Given the description of an element on the screen output the (x, y) to click on. 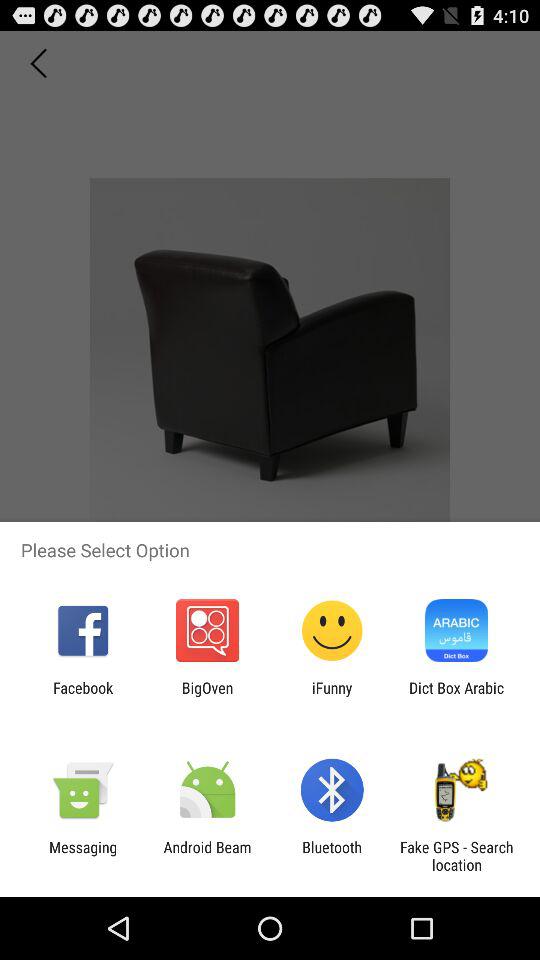
press app to the right of the bluetooth icon (456, 856)
